Given the description of an element on the screen output the (x, y) to click on. 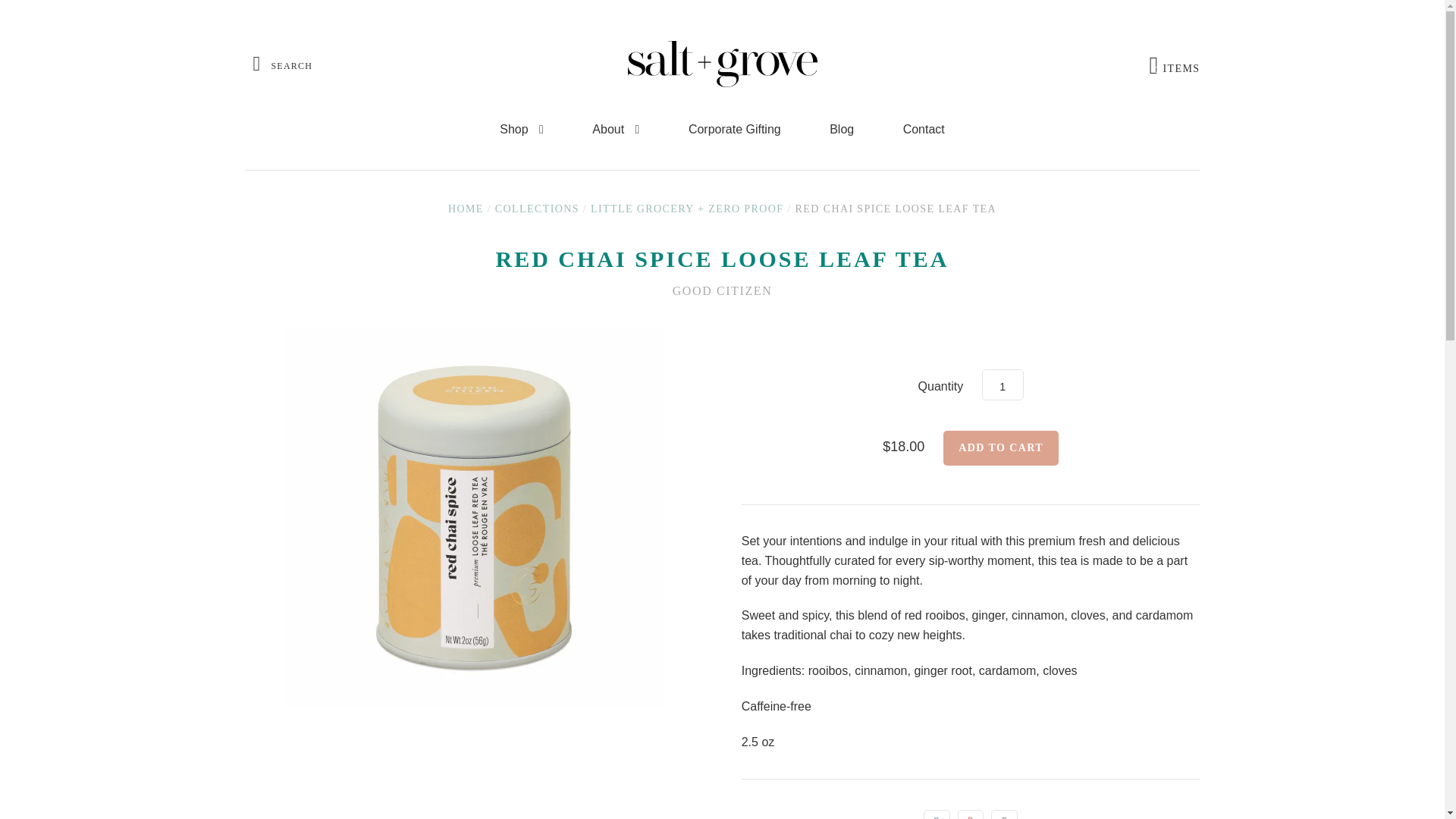
Add to cart (1174, 65)
COLLECTIONS (1000, 448)
HOME (537, 208)
Contact (465, 208)
About (924, 129)
Corporate Gifting (615, 129)
Blog (734, 129)
Shop (841, 129)
Add to cart (521, 129)
Email (1000, 448)
1 (1004, 814)
GOOD CITIZEN (1002, 383)
Pin it (722, 290)
Like (971, 814)
